Given the description of an element on the screen output the (x, y) to click on. 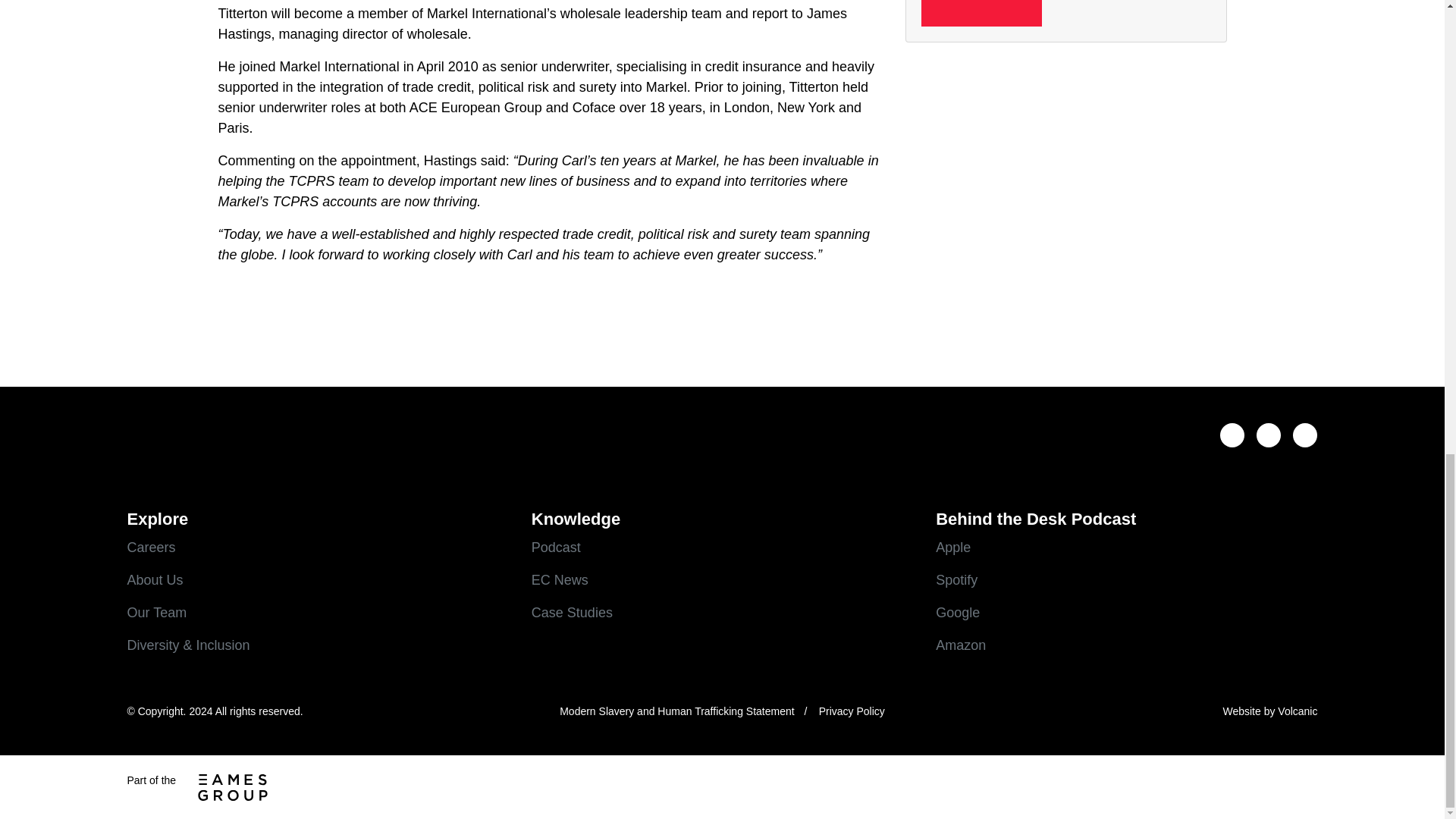
Our Team (318, 612)
Podcast (721, 547)
Apple (1126, 547)
Case Studies (721, 612)
EC News (721, 580)
About Us (318, 580)
Spotify (1126, 580)
Careers (318, 547)
